Given the description of an element on the screen output the (x, y) to click on. 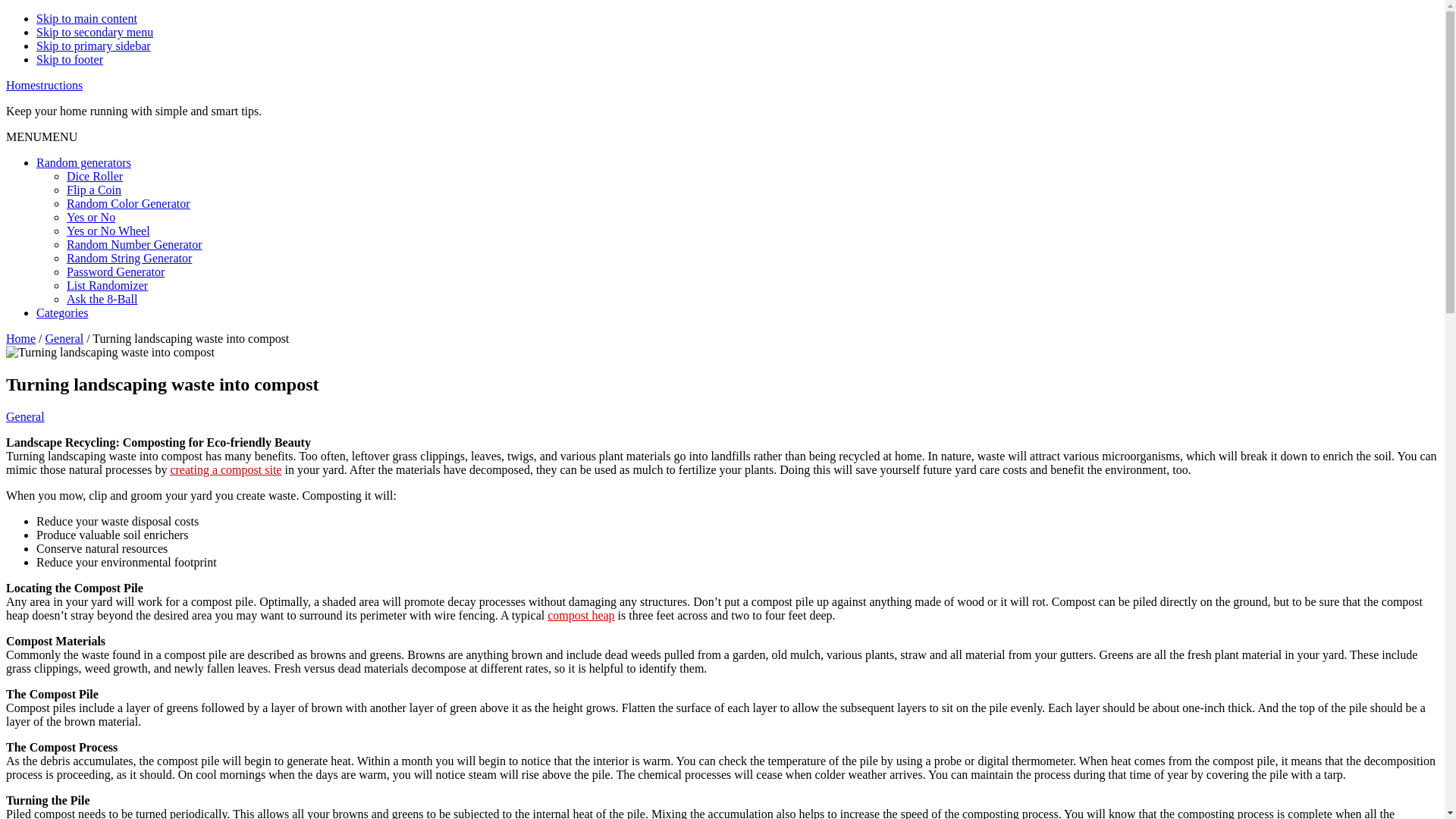
Yes or No Wheel (107, 230)
Password Generator (115, 271)
Dice Roller (94, 175)
General (64, 338)
Home (19, 338)
Skip to secondary menu (94, 31)
Ask the 8-Ball (101, 298)
Random Number Generator (134, 244)
Yes or No (90, 216)
creating a compost site (225, 469)
